Given the description of an element on the screen output the (x, y) to click on. 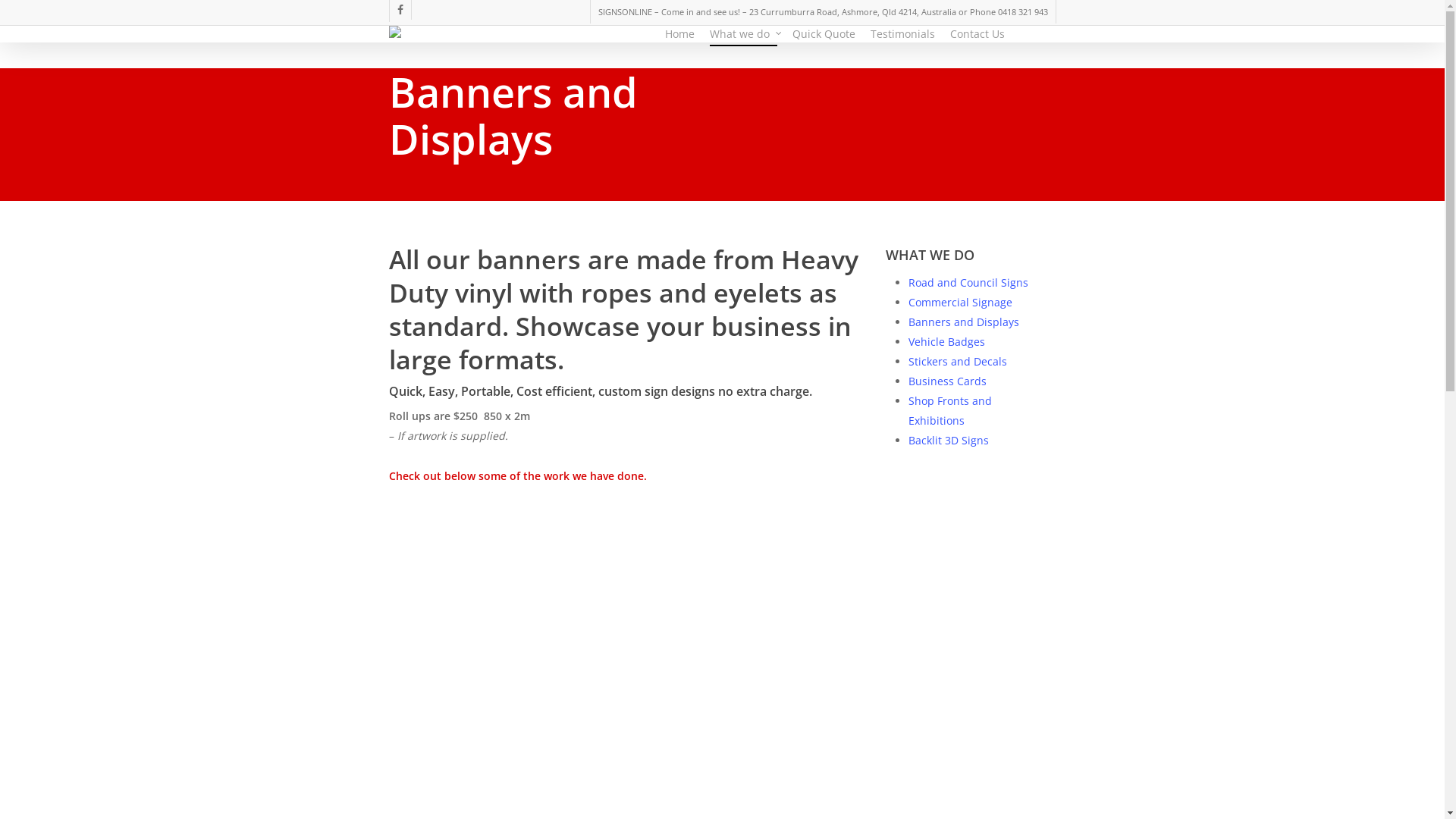
Backlit 3D Signs Element type: text (948, 440)
Testimonials Element type: text (902, 33)
Commercial Signage Element type: text (960, 301)
Business Cards Element type: text (947, 380)
Banners and Displays Element type: text (963, 321)
Quick Quote Element type: text (822, 33)
Stickers and Decals Element type: text (957, 361)
Home Element type: text (678, 33)
Road and Council Signs Element type: text (968, 282)
Shop Fronts and Exhibitions Element type: text (949, 410)
Vehicle Badges Element type: text (946, 341)
Contact Us Element type: text (976, 33)
What we do Element type: text (743, 33)
